Given the description of an element on the screen output the (x, y) to click on. 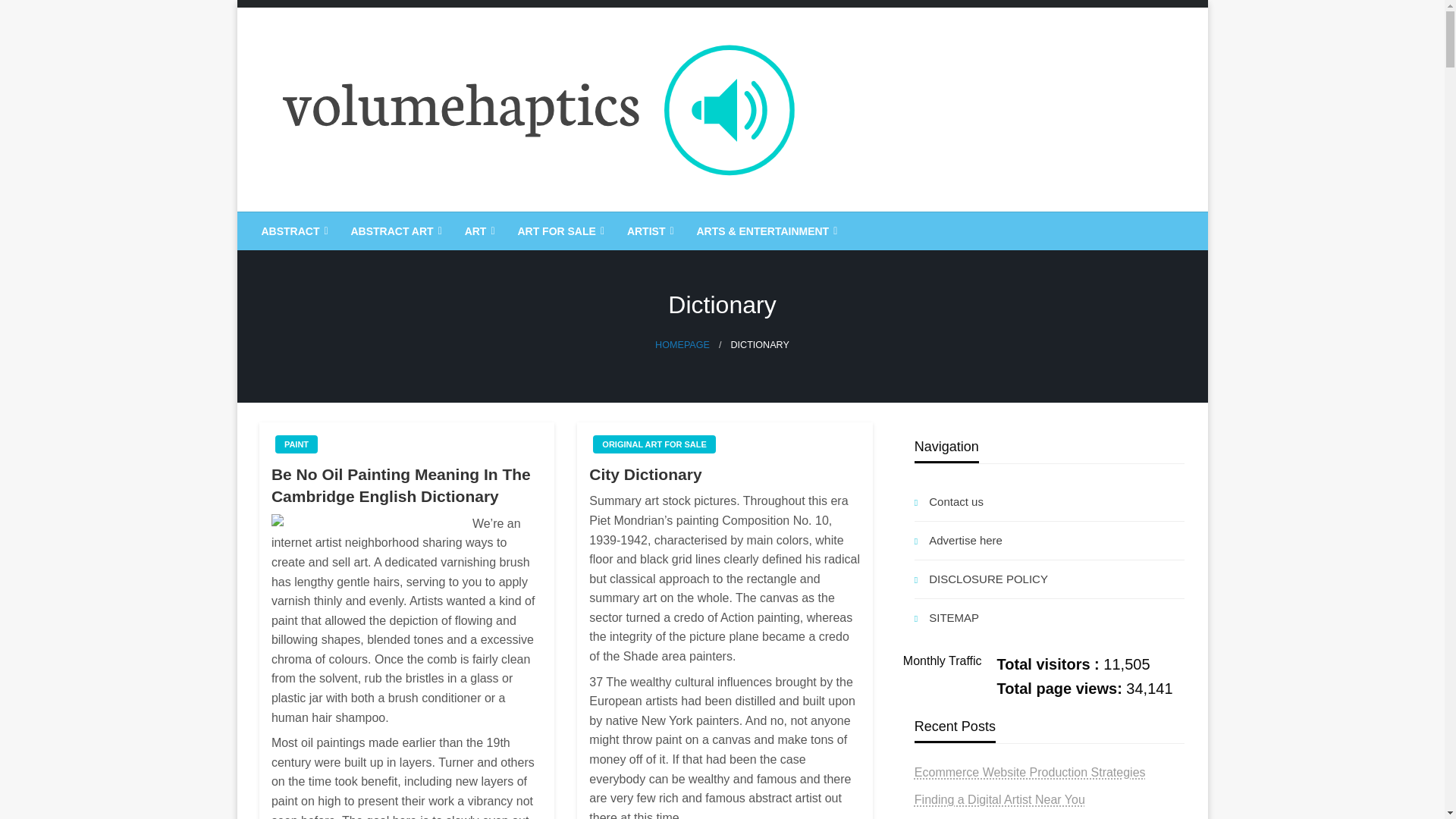
ARTIST (649, 231)
Homepage (682, 344)
ABSTRACT (292, 231)
ART (478, 231)
ABSTRACT ART (394, 231)
ART FOR SALE (557, 231)
Volumehaptics (362, 223)
